Given the description of an element on the screen output the (x, y) to click on. 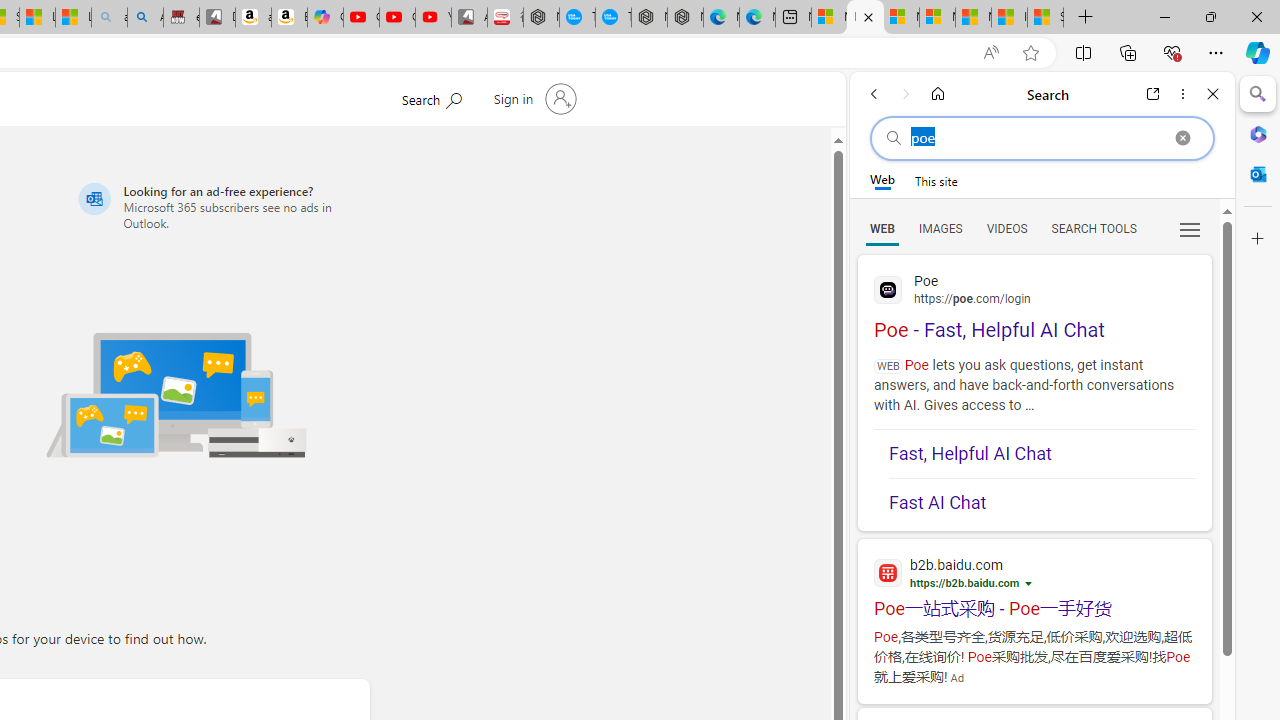
SEARCH TOOLS (1093, 228)
Copilot (325, 17)
Global web icon (888, 290)
Illustration of multiple devices (176, 394)
This site scope (936, 180)
Amazon Echo Dot PNG - Search Images (145, 17)
Nordace - Nordace has arrived Hong Kong (685, 17)
Outlook (1258, 174)
Search Filter, Search Tools (1093, 228)
IMAGES (939, 228)
VIDEOS (1006, 228)
SERP,5400 (1034, 608)
